Given the description of an element on the screen output the (x, y) to click on. 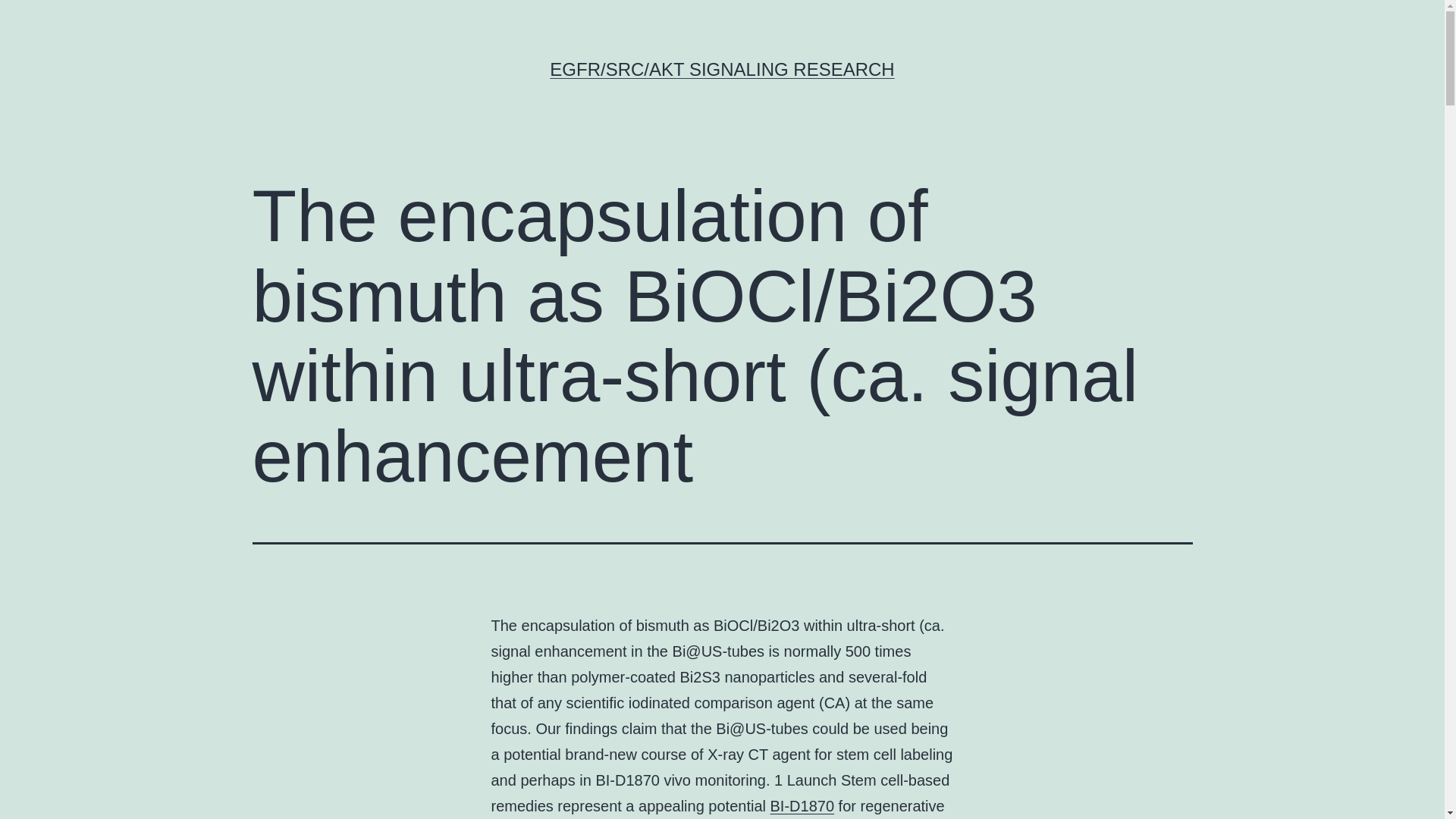
BI-D1870 (802, 805)
